Given the description of an element on the screen output the (x, y) to click on. 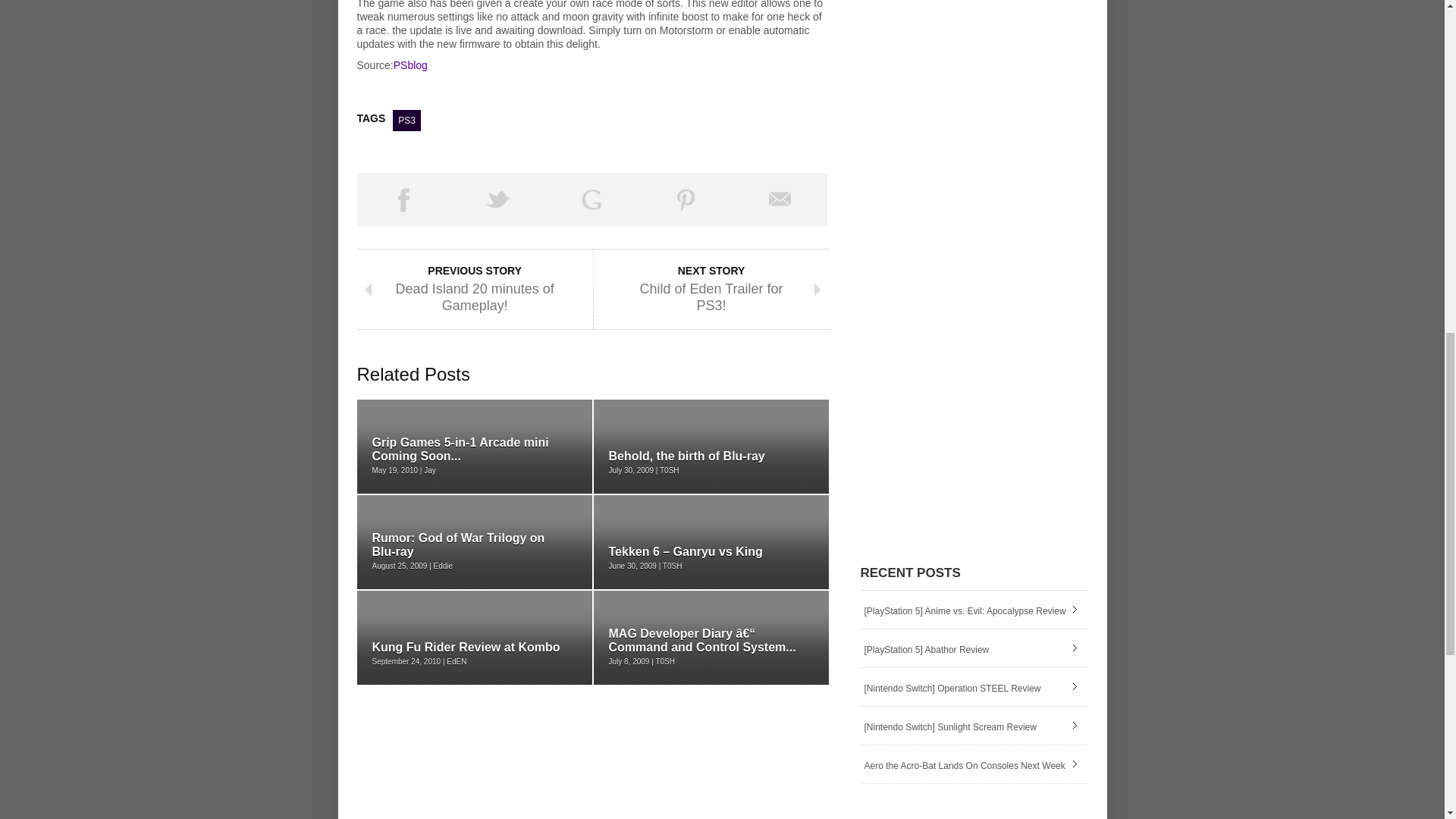
PS3 (406, 120)
PSblog (410, 64)
Advertisement (533, 84)
